Given the description of an element on the screen output the (x, y) to click on. 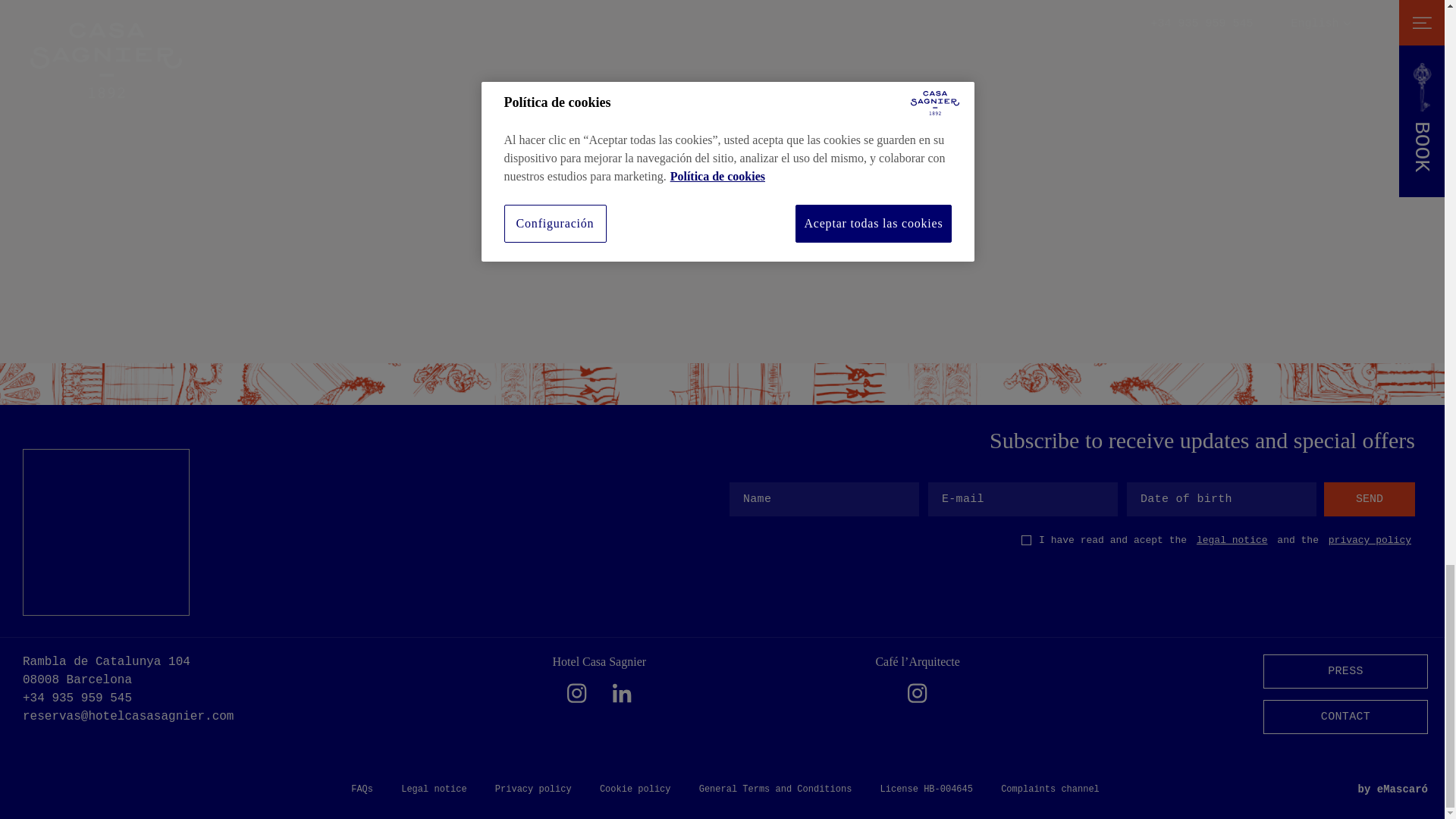
legal notice (1232, 540)
SEND (1369, 499)
on (1026, 540)
